Given the description of an element on the screen output the (x, y) to click on. 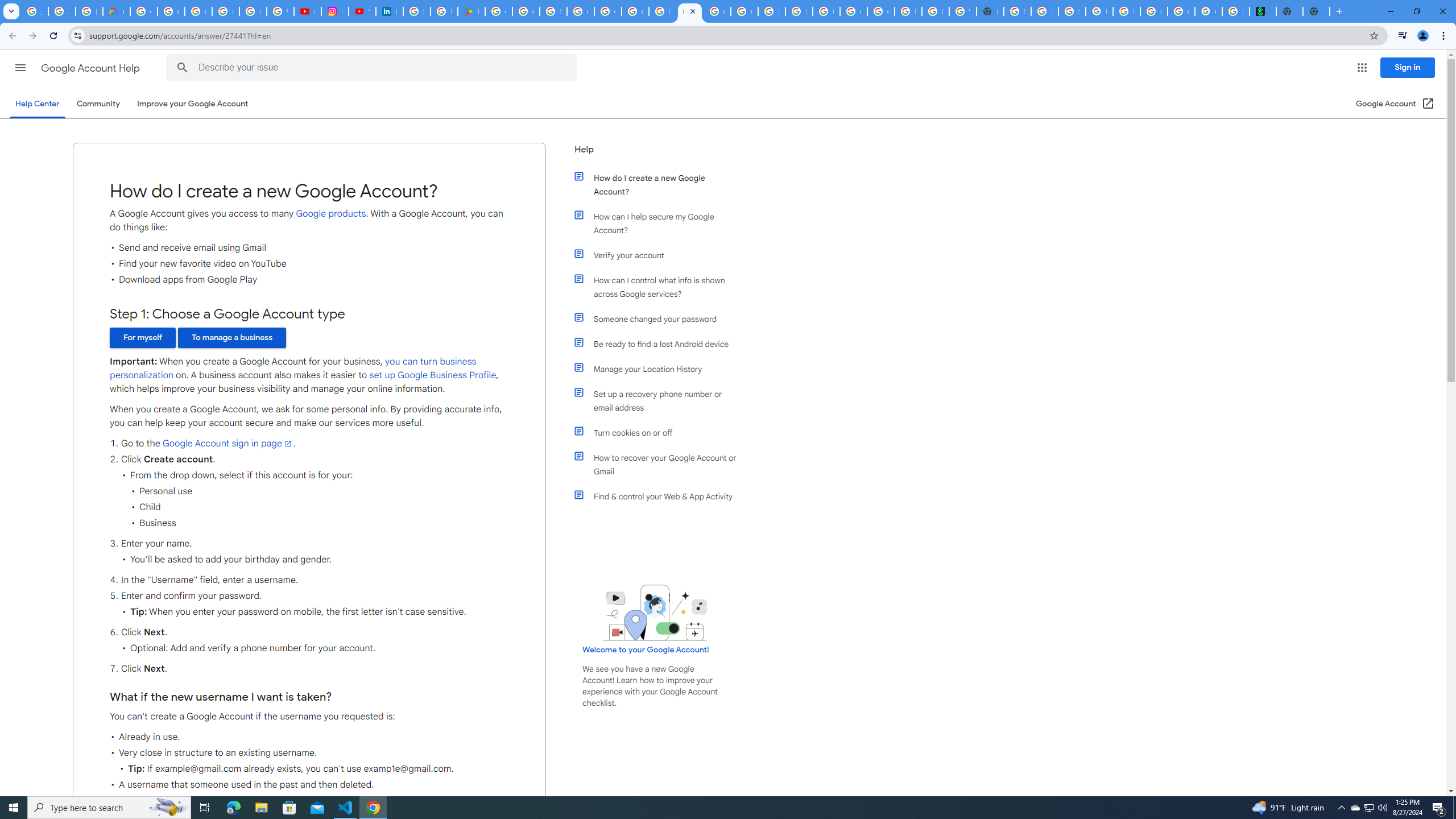
Help Center (36, 103)
Help (656, 153)
Control your music, videos, and more (1402, 35)
Search Help Center (181, 67)
Browse Chrome as a guest - Computer - Google Chrome Help (935, 11)
Welcome to your Google Account! (645, 649)
Google Account (Open in a new window) (1395, 103)
